Given the description of an element on the screen output the (x, y) to click on. 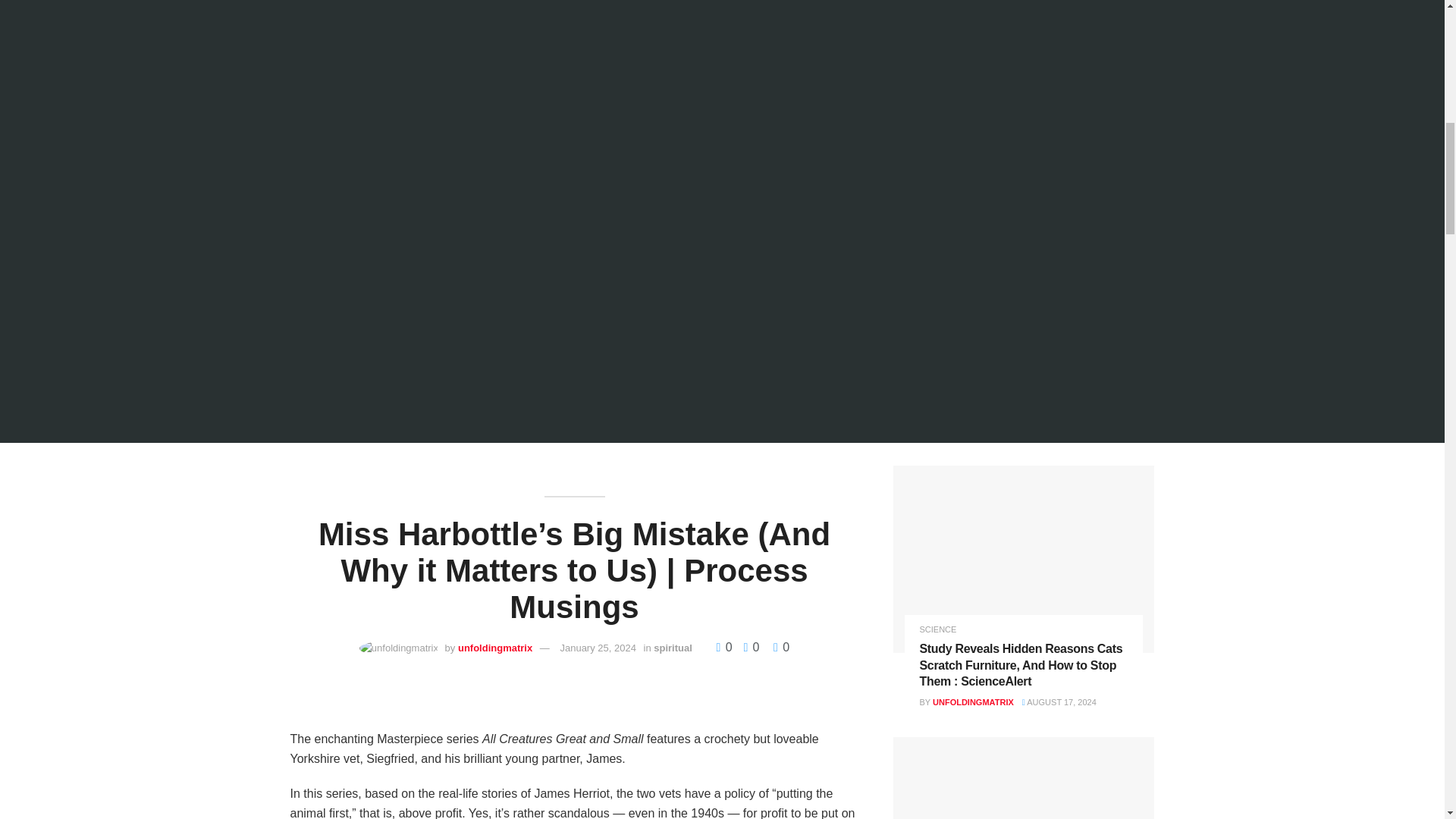
spiritual (673, 647)
0 (781, 646)
0 (725, 646)
January 25, 2024 (596, 647)
unfoldingmatrix (495, 647)
0 (746, 646)
